Given the description of an element on the screen output the (x, y) to click on. 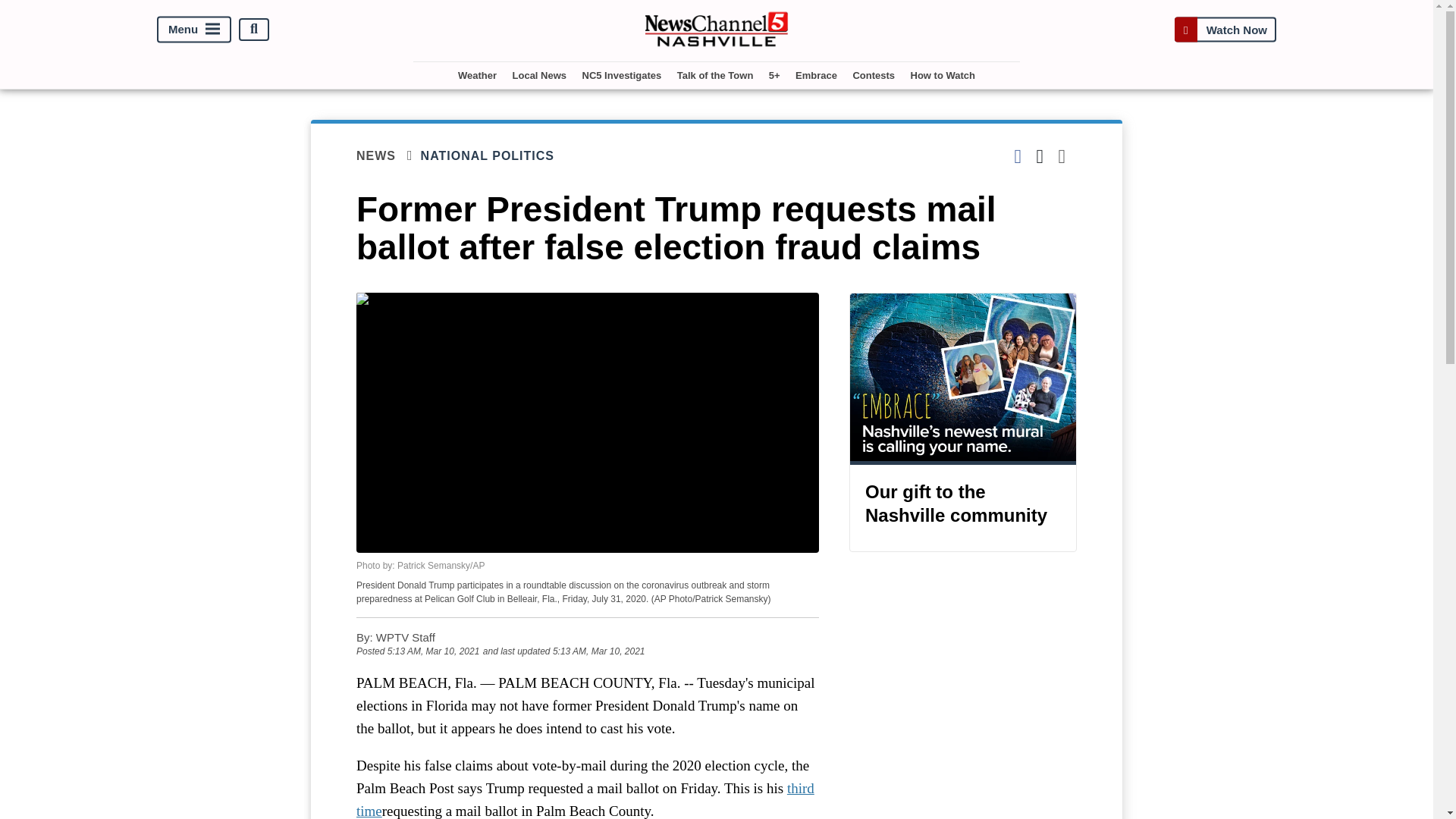
Menu (194, 28)
Watch Now (1224, 29)
